Given the description of an element on the screen output the (x, y) to click on. 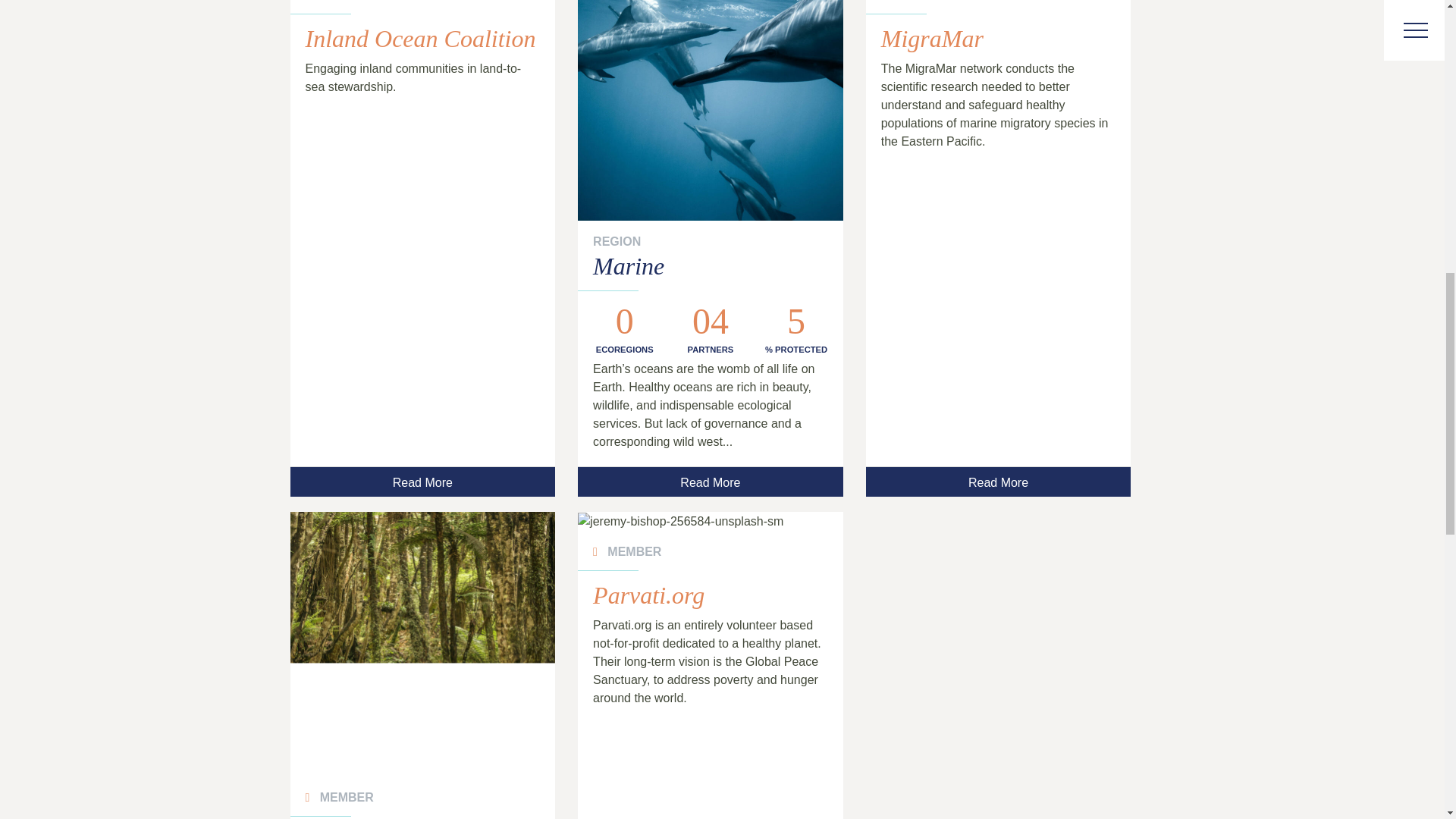
Read More (998, 481)
jeremy-bishop-256584-unsplash-sm (710, 521)
Read More (421, 481)
Read More (710, 481)
